Given the description of an element on the screen output the (x, y) to click on. 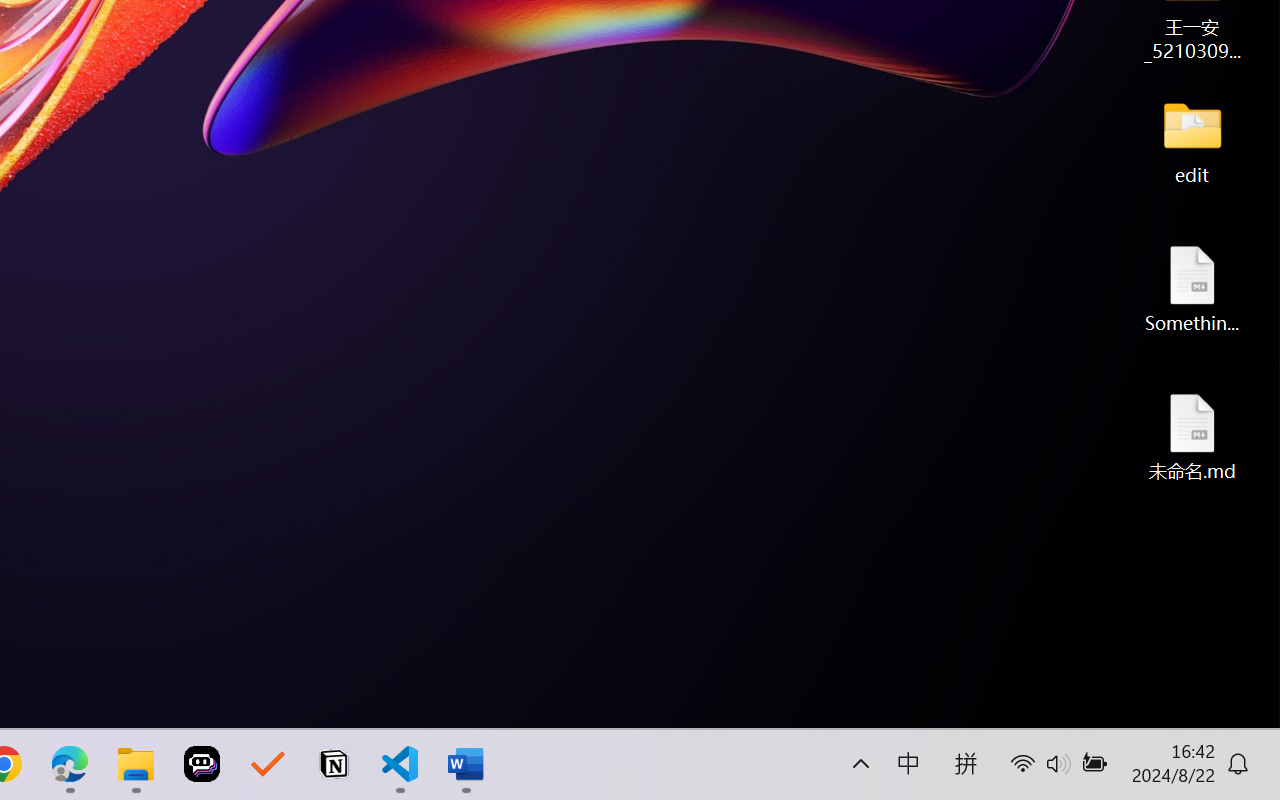
edit (1192, 140)
Something.md (1192, 288)
